Given the description of an element on the screen output the (x, y) to click on. 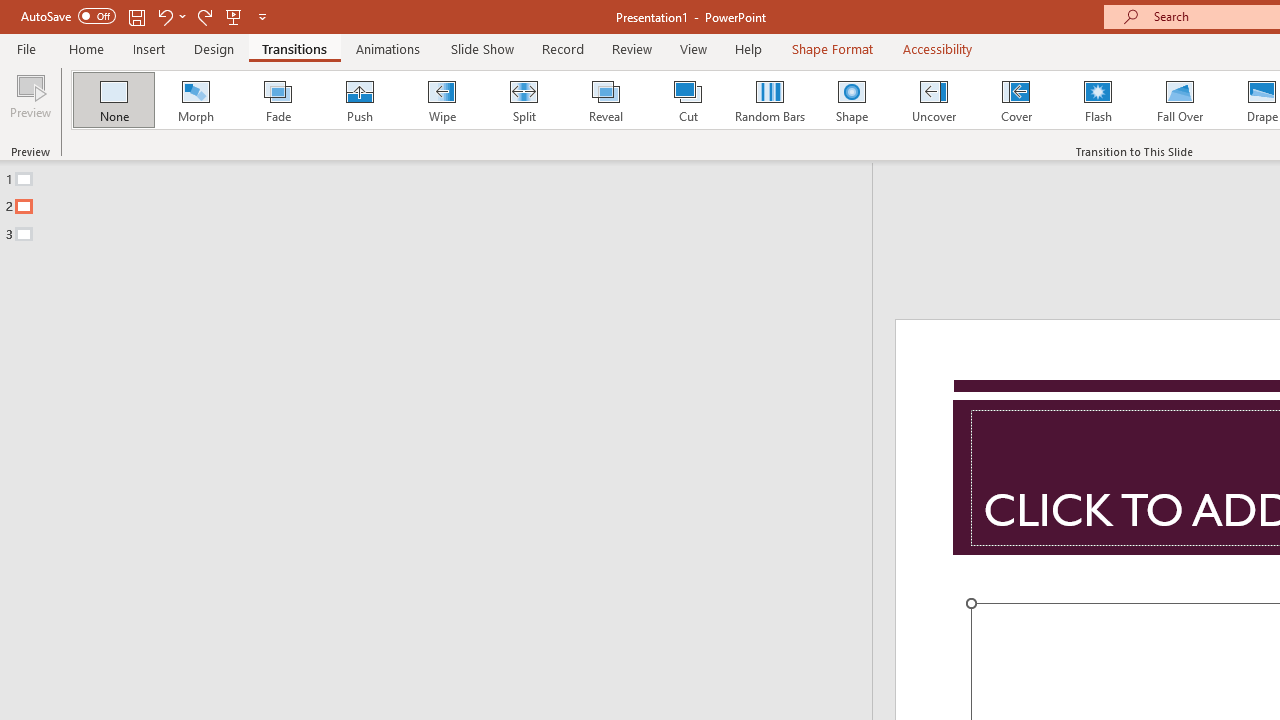
Morph (195, 100)
Flash (1098, 100)
Fall Over (1180, 100)
